Given the description of an element on the screen output the (x, y) to click on. 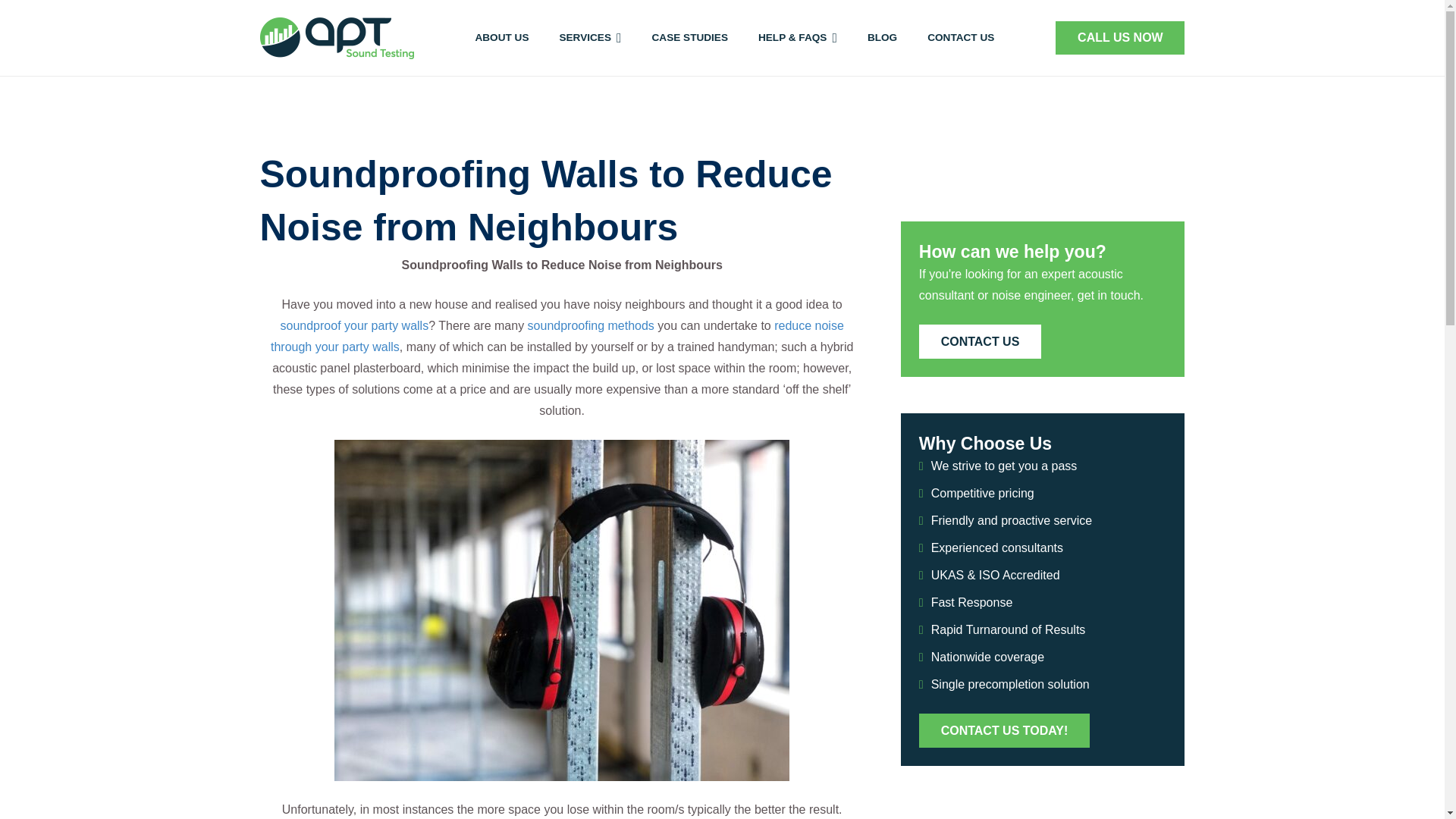
soundproofing methods (590, 325)
soundproof your party walls (355, 325)
ABOUT US (501, 38)
CASE STUDIES (689, 38)
SERVICES (589, 38)
CALL US NOW (1120, 38)
CONTACT US (960, 38)
reduce noise through your party walls (557, 335)
